Given the description of an element on the screen output the (x, y) to click on. 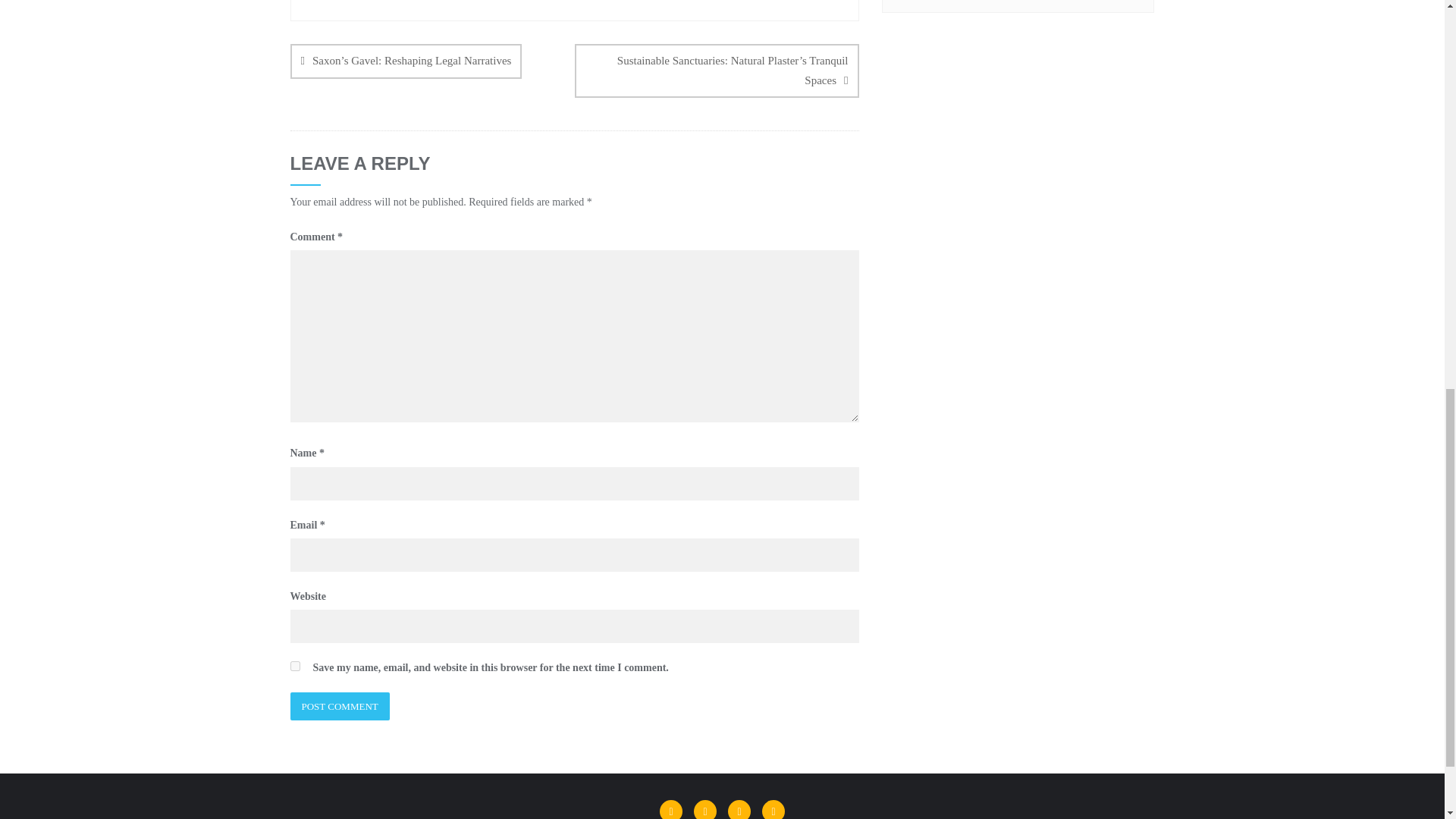
Post Comment (338, 706)
yes (294, 665)
